Given the description of an element on the screen output the (x, y) to click on. 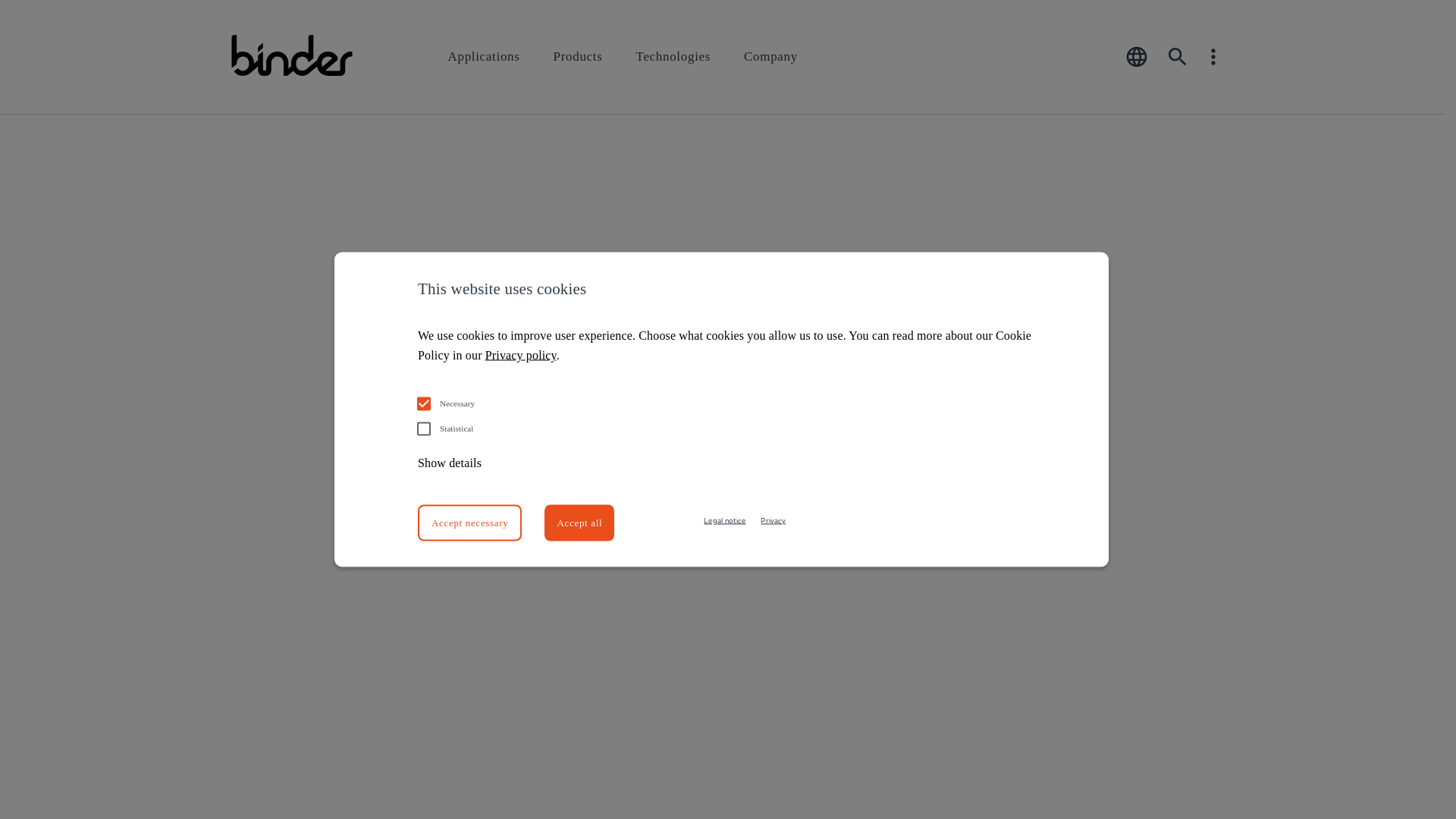
Legal notice Element type: text (724, 520)
Accept all Element type: text (579, 523)
Privacy Element type: text (772, 520)
Privacy policy Element type: text (520, 354)
Accept necessary Element type: text (469, 523)
